Given the description of an element on the screen output the (x, y) to click on. 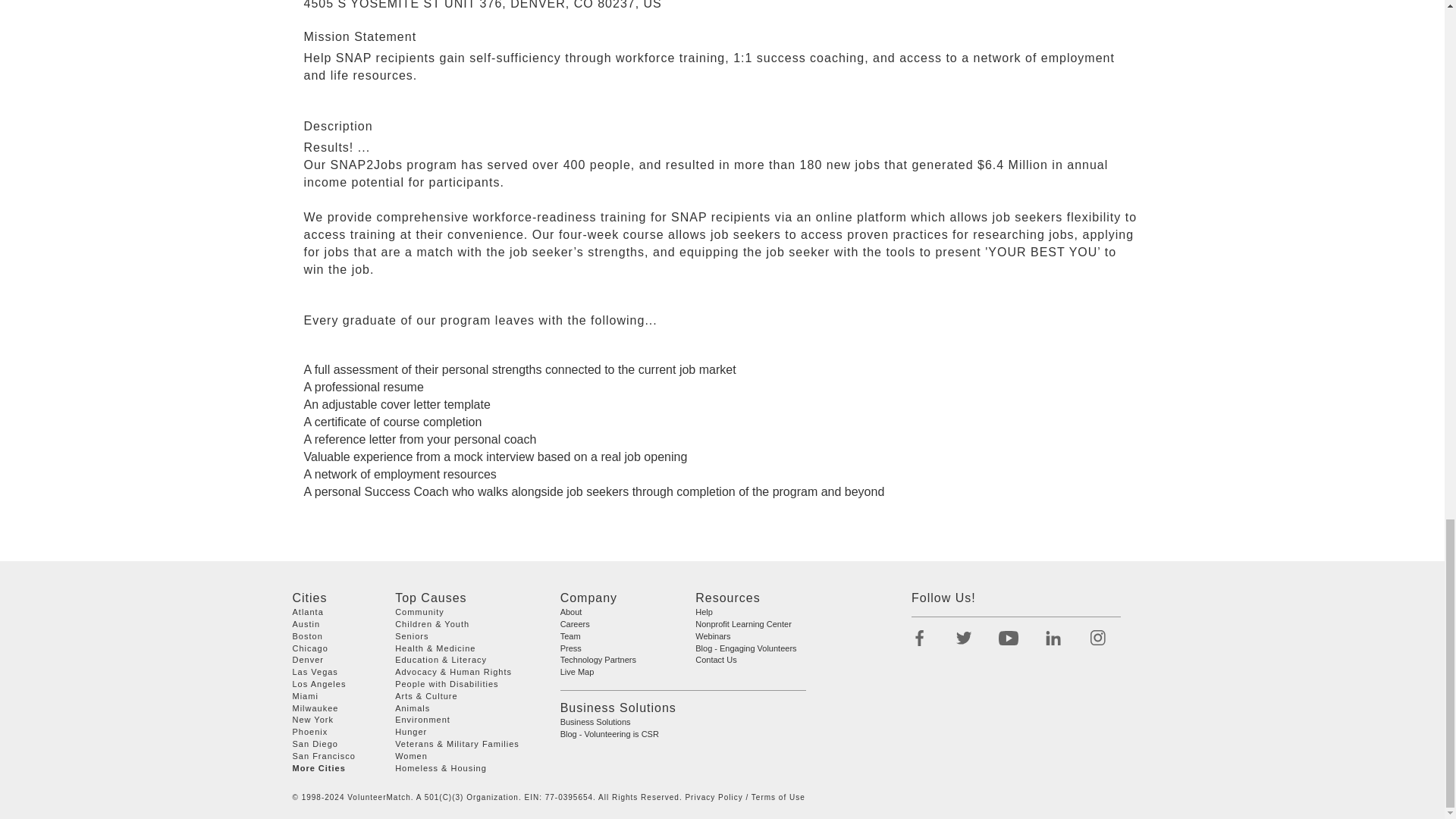
Boston (307, 634)
Atlanta (307, 611)
Chicago (310, 646)
Denver (307, 659)
Austin (306, 623)
